Given the description of an element on the screen output the (x, y) to click on. 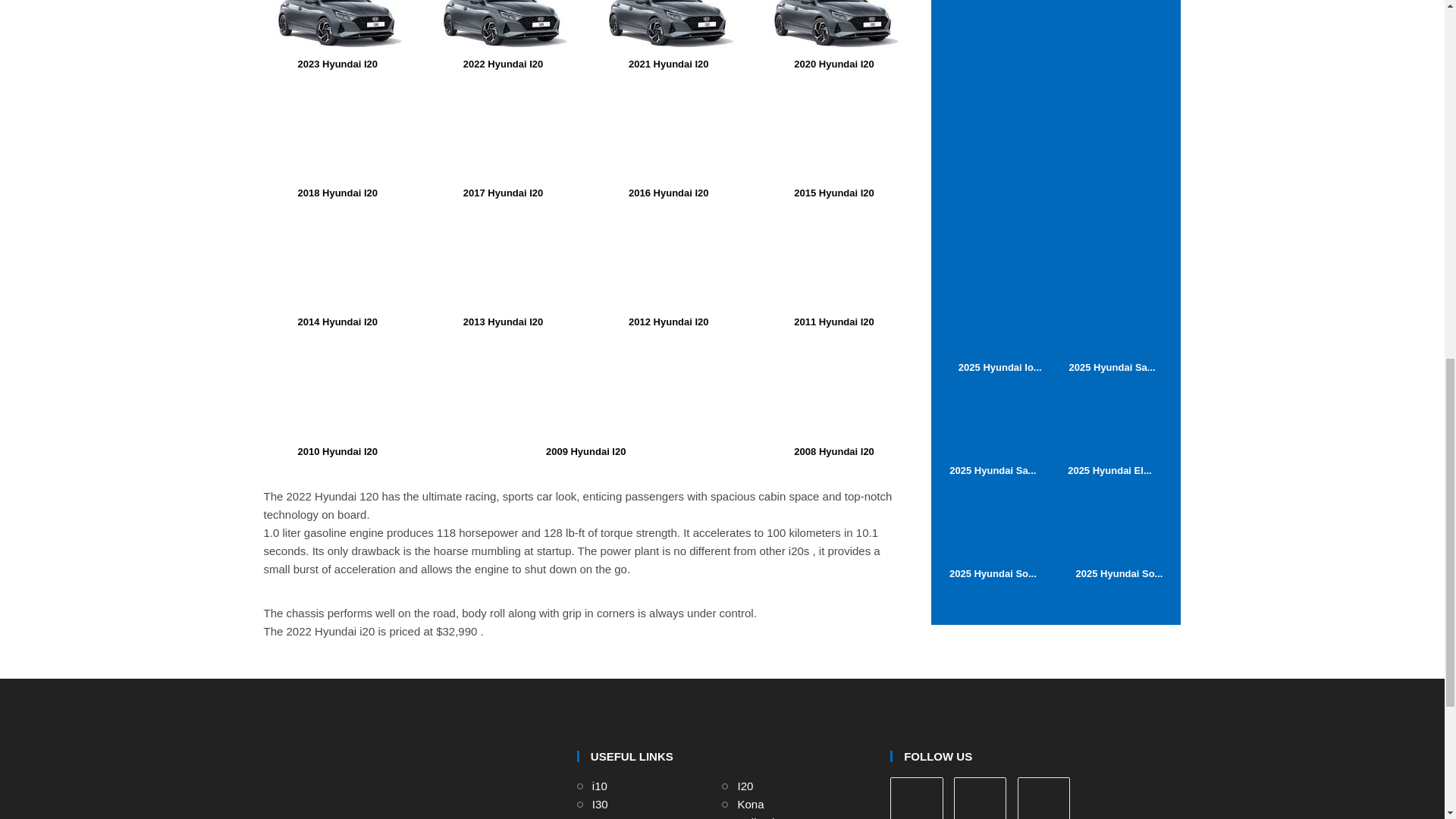
2018 Hyundai I20 (337, 141)
2016 Hyundai I20 (668, 141)
2025 Hyundai So... (992, 534)
2025 Hyundai Io... (999, 328)
2021 Hyundai I20 (668, 34)
2013 Hyundai I20 (503, 269)
2011 Hyundai I20 (834, 269)
2014 Hyundai I20 (337, 269)
2014 Hyundai I20 (337, 262)
2021 Hyundai I20 (668, 27)
